Given the description of an element on the screen output the (x, y) to click on. 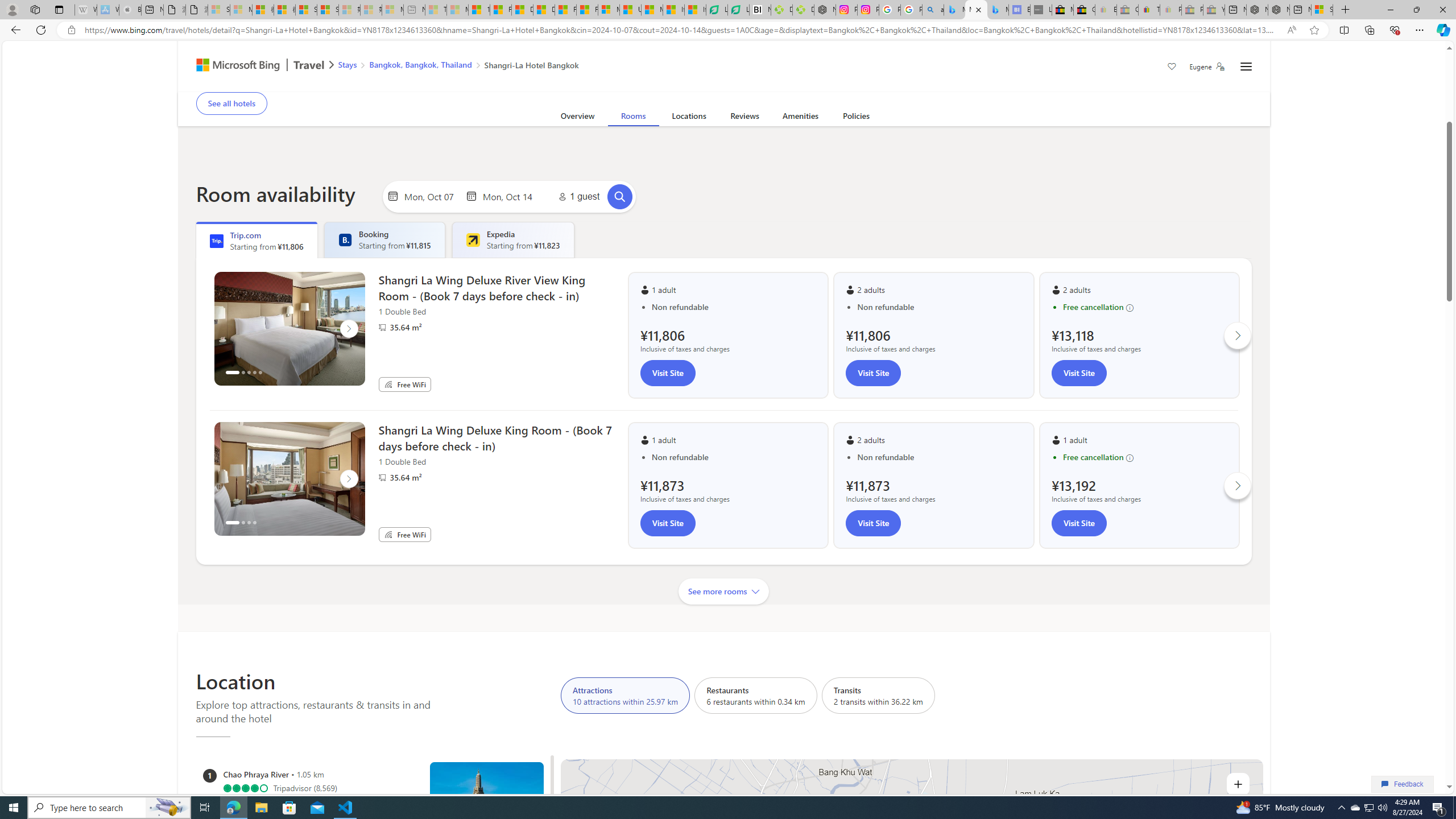
Save (1171, 67)
Microsoft account | Account Checkup - Sleeping (392, 9)
Eugene (1206, 66)
Policies (855, 118)
Visit Site (1078, 523)
Nvidia va a poner a prueba la paciencia de los inversores (760, 9)
Locations (688, 118)
